Given the description of an element on the screen output the (x, y) to click on. 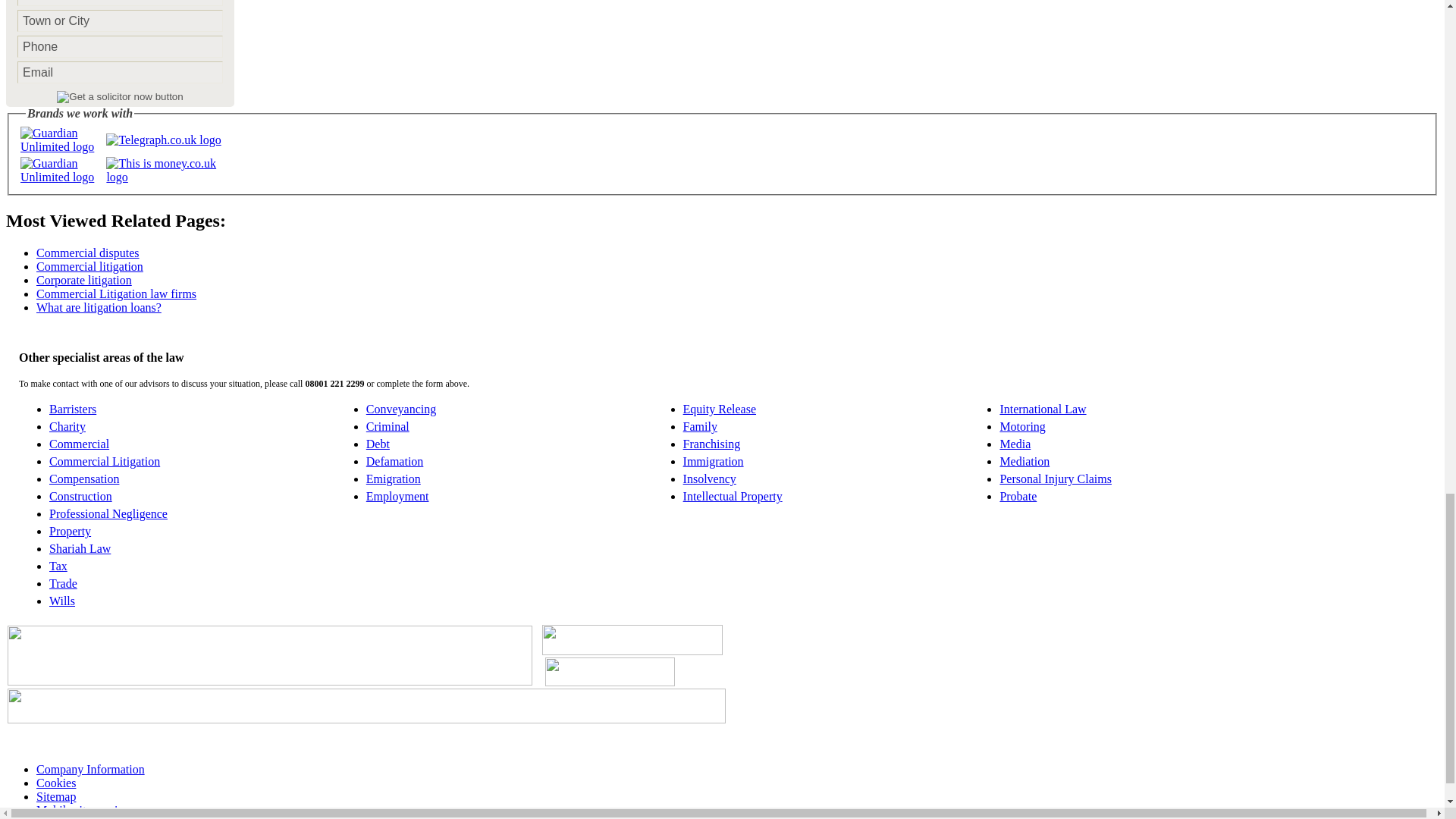
Town or City (119, 20)
Phone (119, 46)
Name (119, 2)
Email (119, 72)
